Given the description of an element on the screen output the (x, y) to click on. 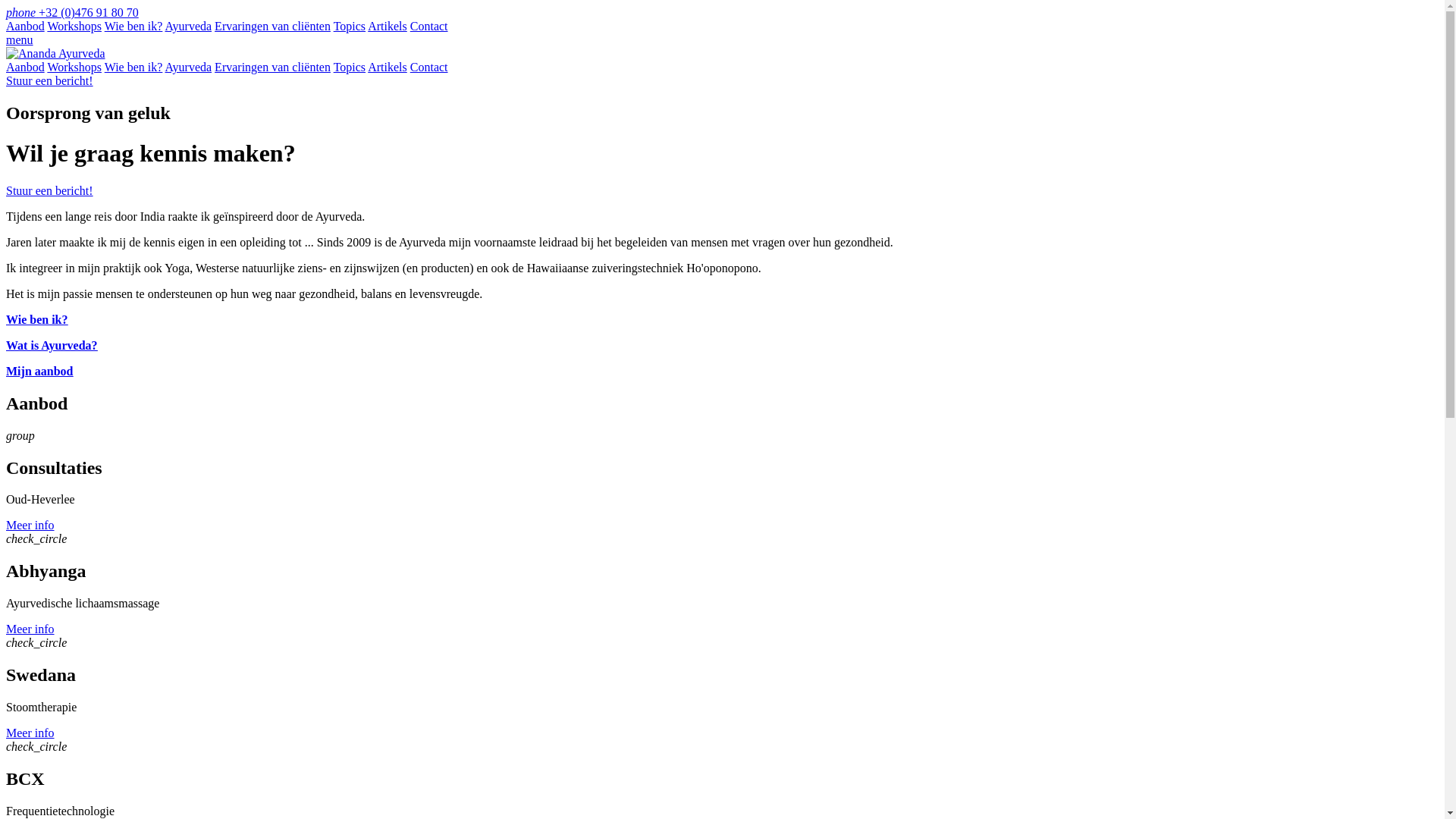
Aanbod Element type: text (25, 66)
Aanbod Element type: text (25, 25)
Artikels Element type: text (387, 66)
Wie ben ik? Element type: text (37, 319)
Mijn aanbod Element type: text (39, 370)
Ayurveda Element type: text (187, 25)
Topics Element type: text (349, 66)
Wie ben ik? Element type: text (133, 25)
Workshops Element type: text (74, 25)
Meer info Element type: text (30, 524)
Artikels Element type: text (387, 25)
Meer info Element type: text (30, 628)
Meer info Element type: text (30, 732)
Workshops Element type: text (74, 66)
Stuur een bericht! Element type: text (49, 190)
Wat is Ayurveda? Element type: text (51, 344)
Contact Element type: text (429, 66)
Topics Element type: text (349, 25)
Wie ben ik? Element type: text (133, 66)
menu Element type: text (19, 39)
Stuur een bericht! Element type: text (49, 80)
Ananda Ayurveda Element type: hover (55, 53)
Contact Element type: text (429, 25)
Ayurveda Element type: text (187, 66)
phone +32 (0)476 91 80 70 Element type: text (72, 12)
